Given the description of an element on the screen output the (x, y) to click on. 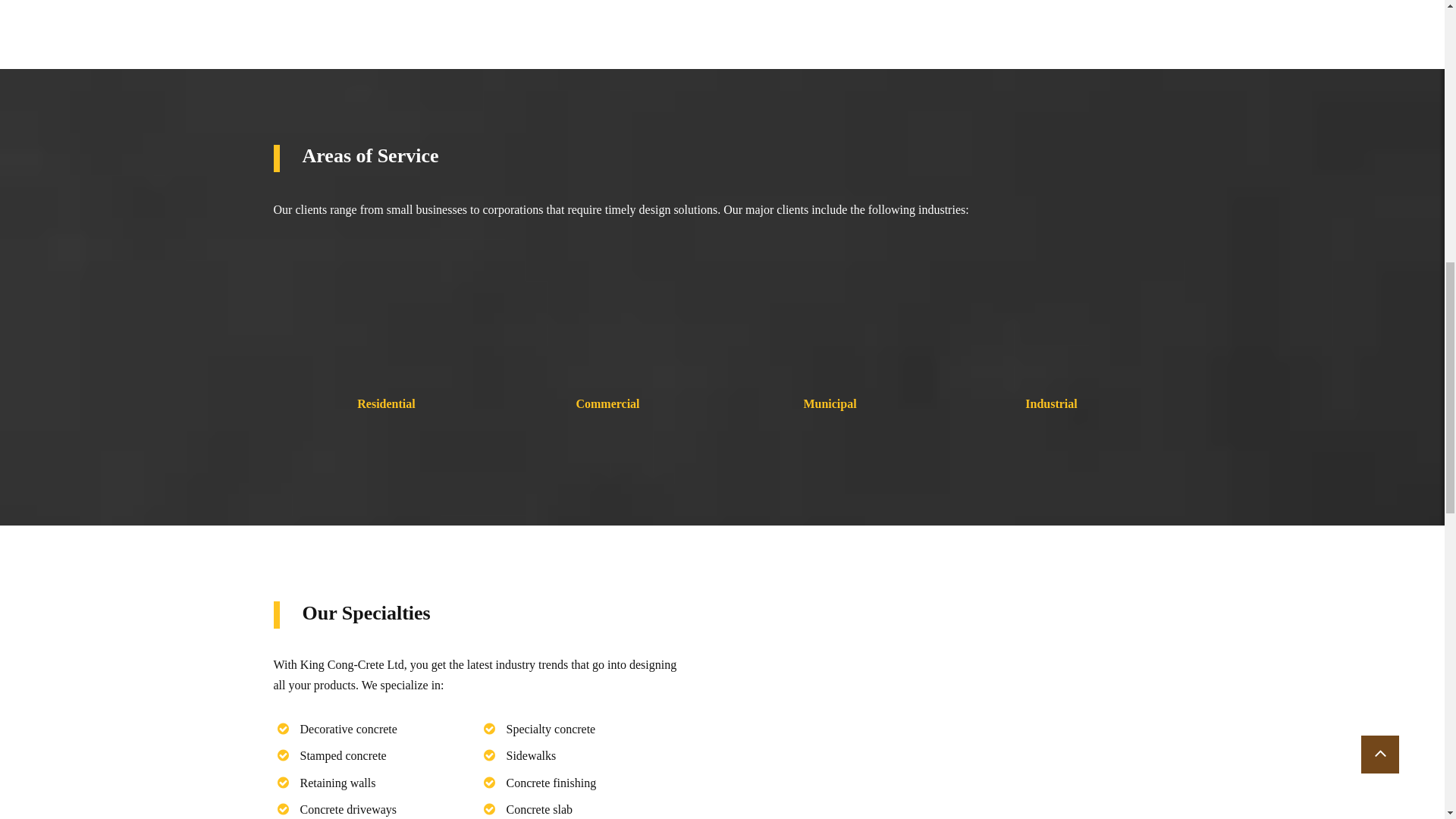
Residential (385, 405)
Industrial (1051, 405)
Municipal (829, 405)
Commercial (607, 405)
